Given the description of an element on the screen output the (x, y) to click on. 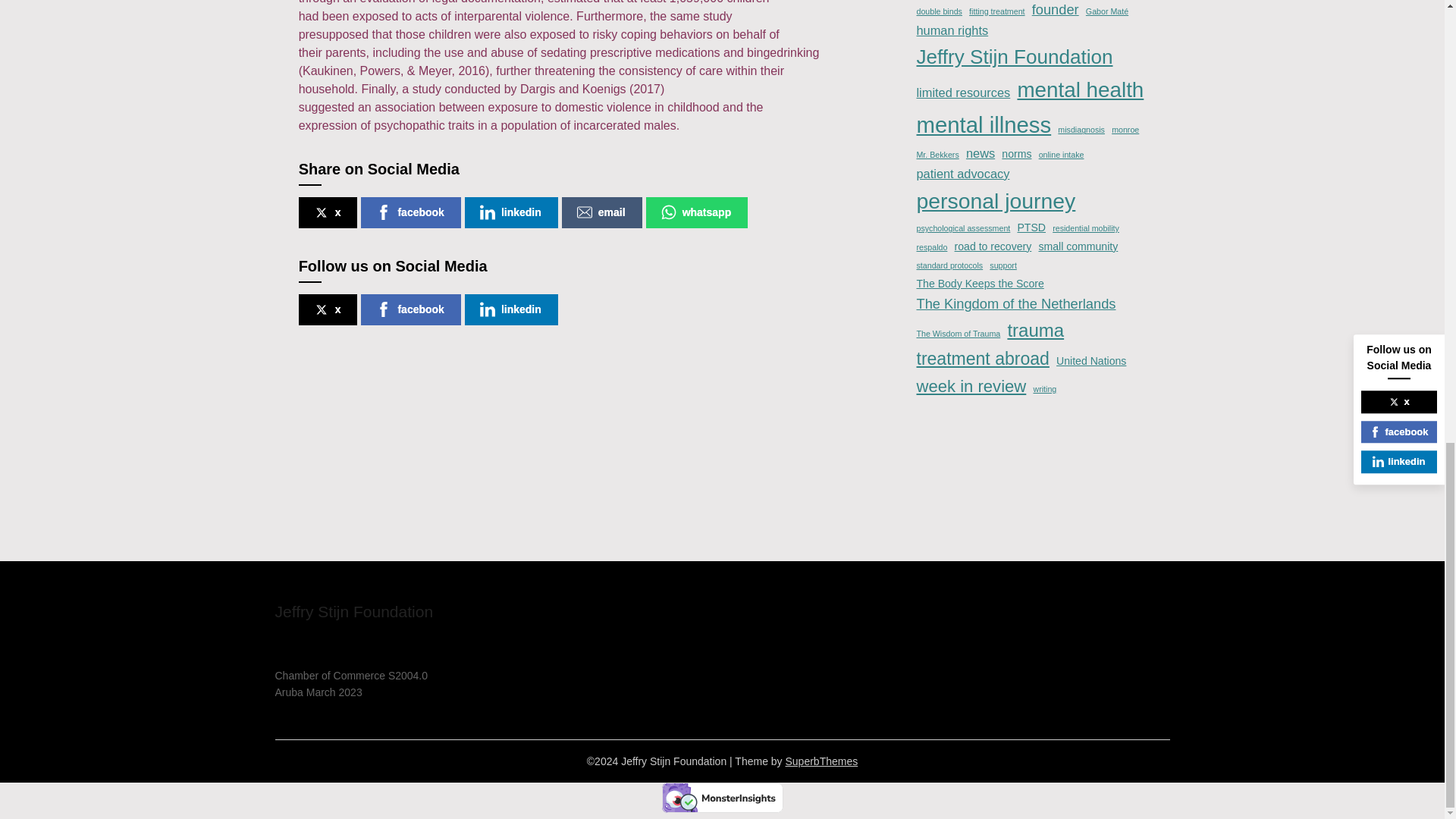
Verified by MonsterInsights (722, 797)
